Given the description of an element on the screen output the (x, y) to click on. 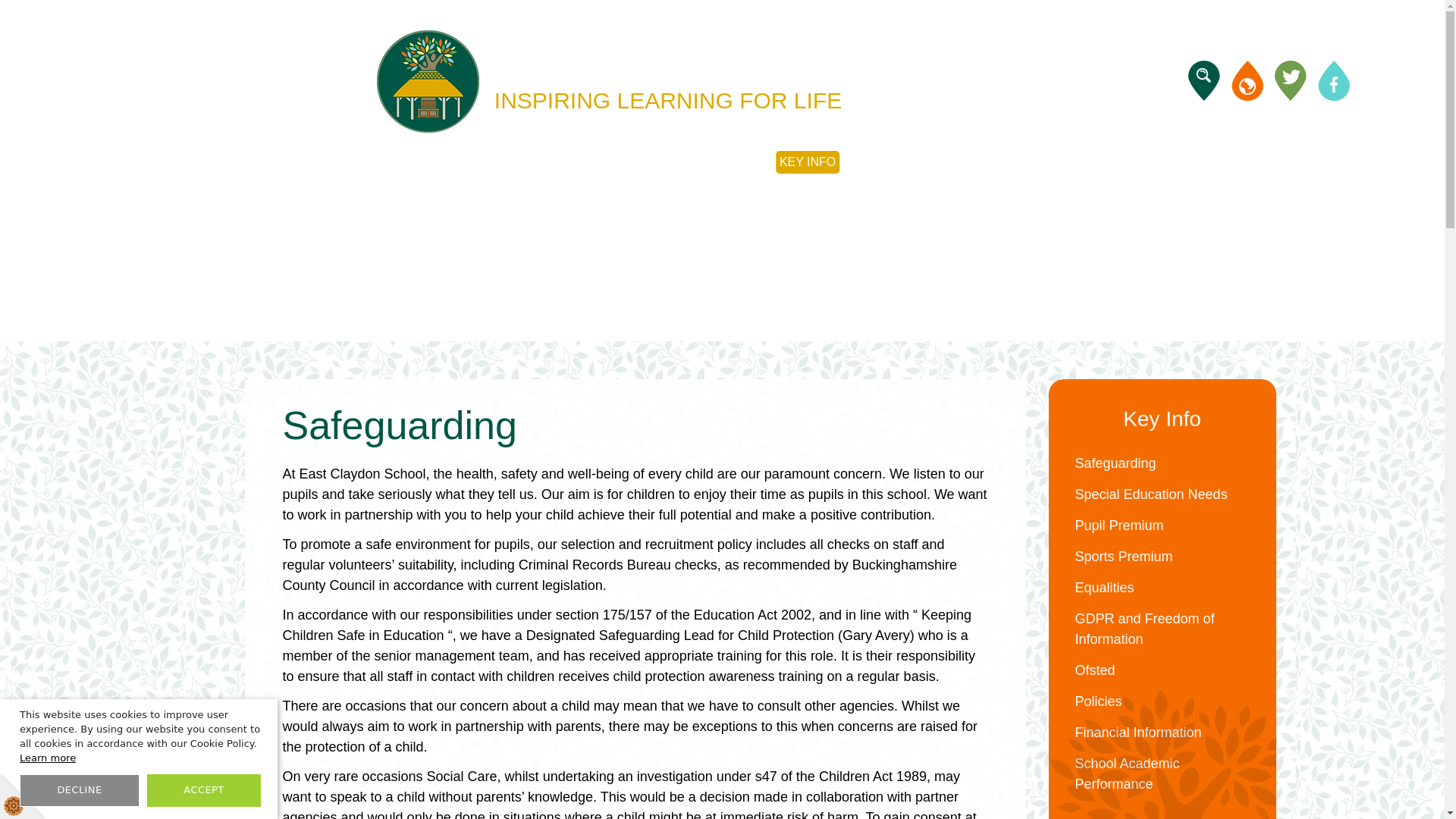
HOME (464, 161)
PARENTS (727, 161)
OUR SCHOOL (548, 161)
LEARNING (644, 161)
